Given the description of an element on the screen output the (x, y) to click on. 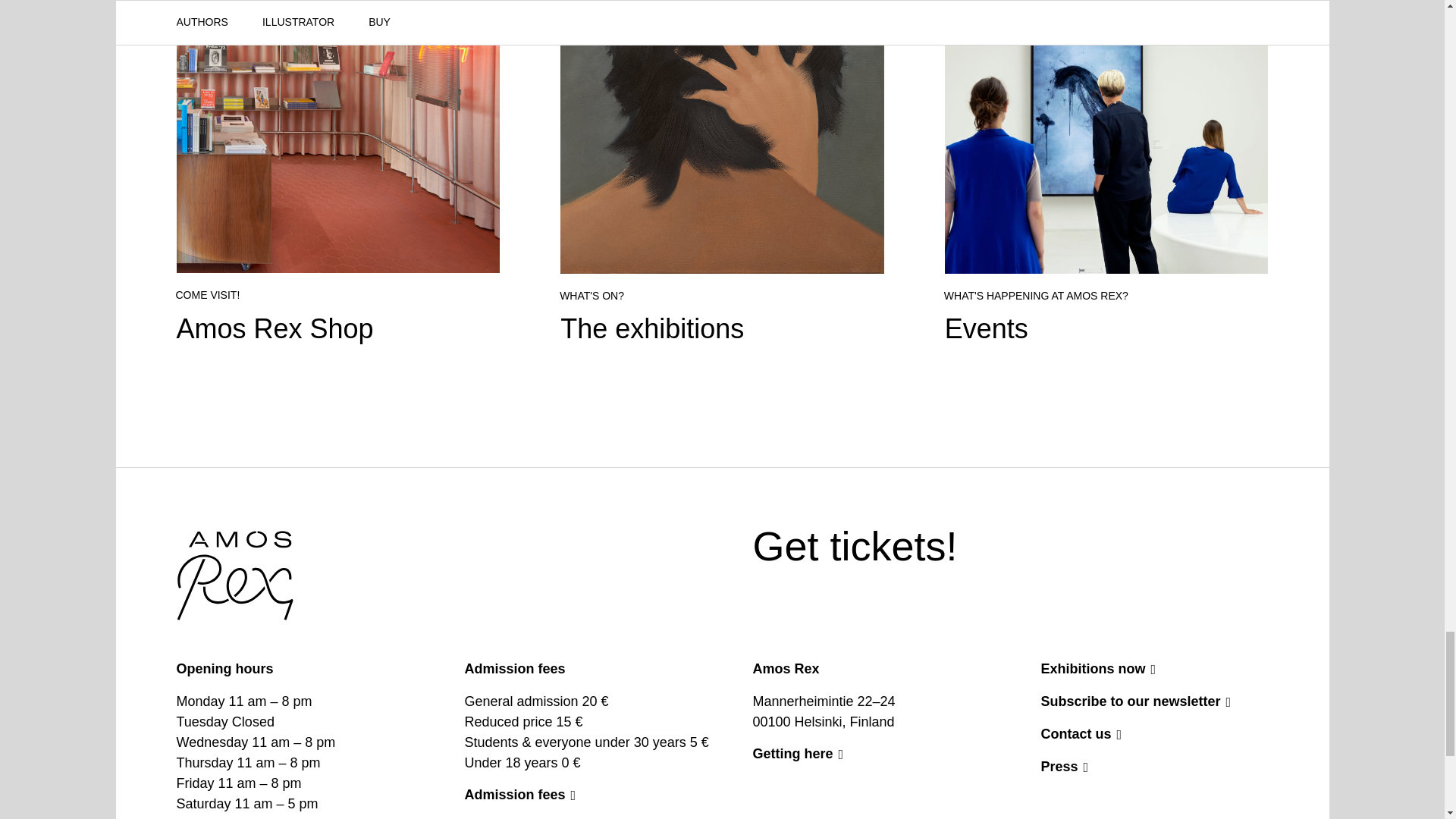
Getting here (865, 753)
Get tickets! (854, 546)
Get tickets! (337, 172)
Admission fees (854, 546)
